Given the description of an element on the screen output the (x, y) to click on. 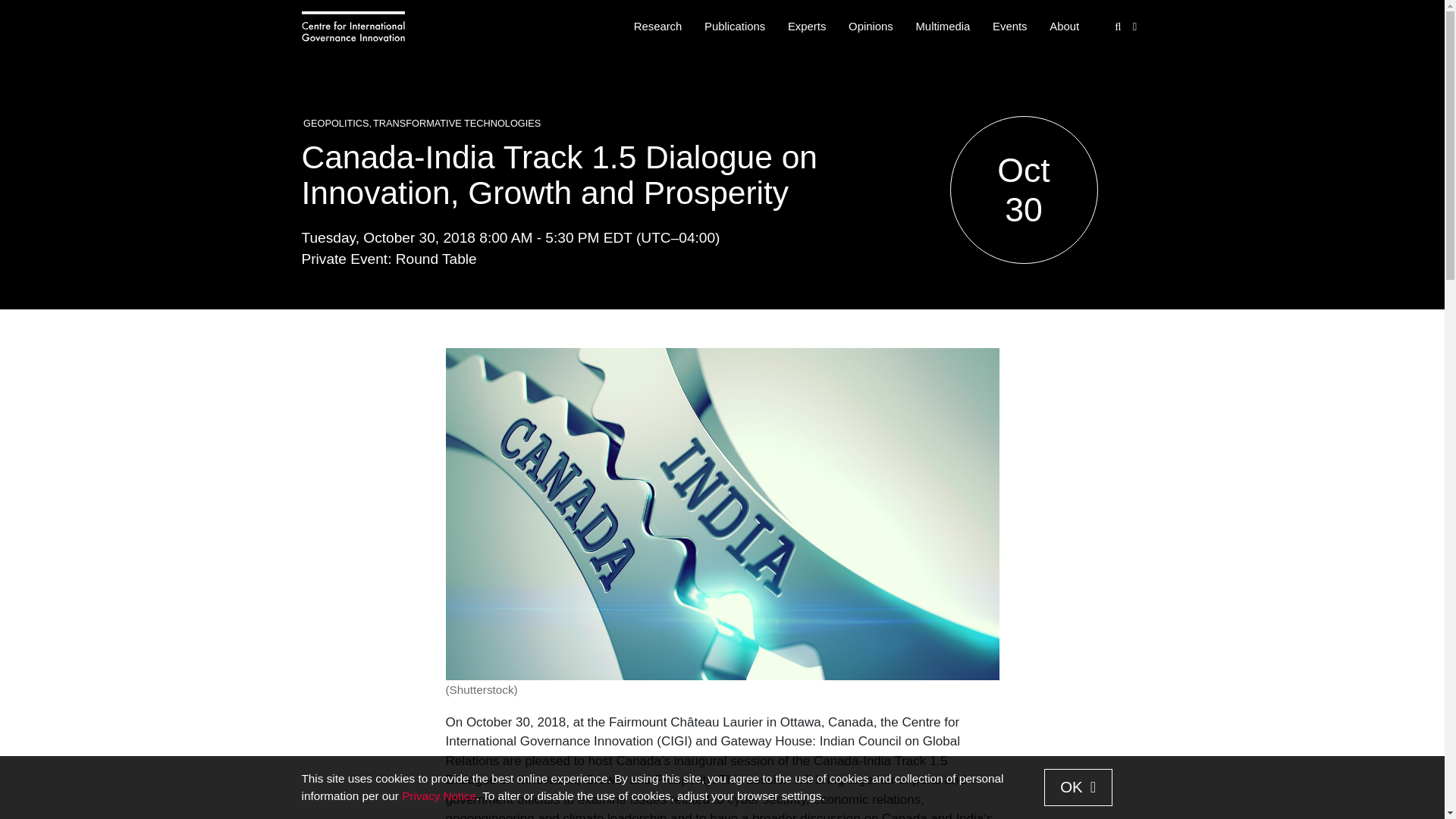
Experts (806, 27)
Multimedia (942, 27)
Events (1009, 27)
Publications (734, 27)
About (1064, 27)
Opinions (870, 27)
Research (658, 27)
